Given the description of an element on the screen output the (x, y) to click on. 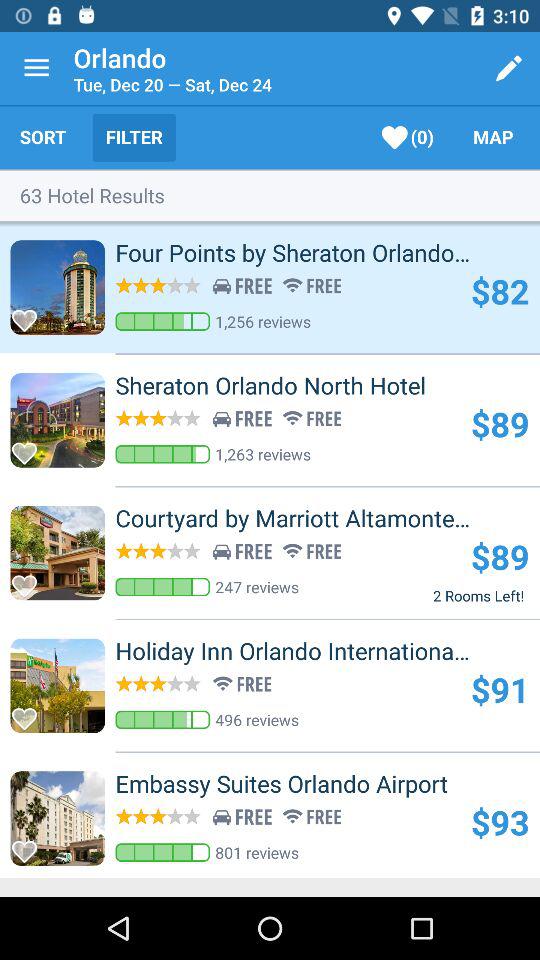
save as favorite (30, 845)
